Given the description of an element on the screen output the (x, y) to click on. 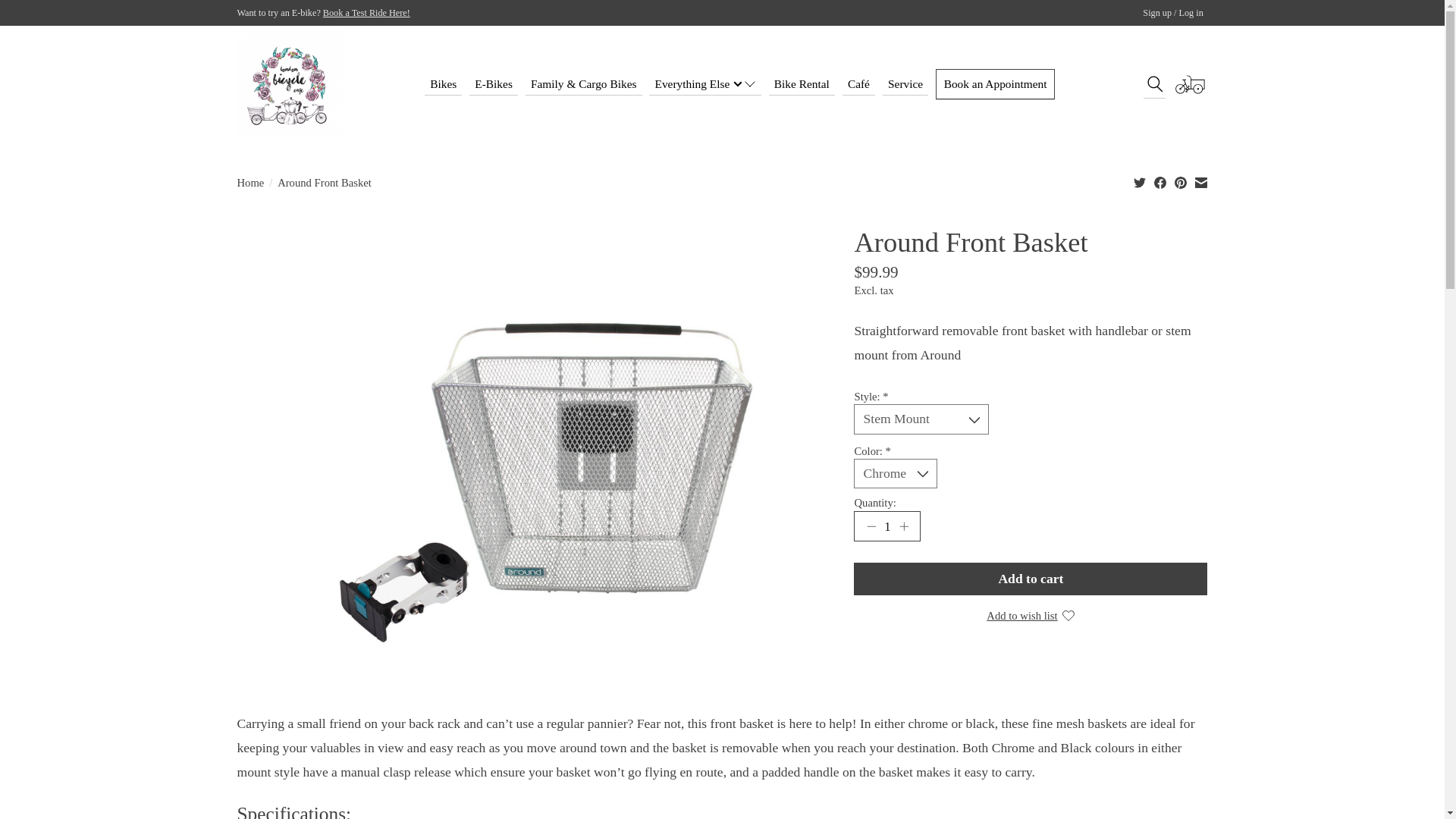
Bikes (444, 84)
Share on Pinterest (1180, 182)
Share on Facebook (1160, 182)
Book an Appointment (995, 83)
Home (249, 182)
Everything Else (705, 84)
Bike Rental (801, 84)
Share on Twitter (1139, 182)
Book a Test Ride Here! (366, 12)
Share by Email (1201, 182)
